Given the description of an element on the screen output the (x, y) to click on. 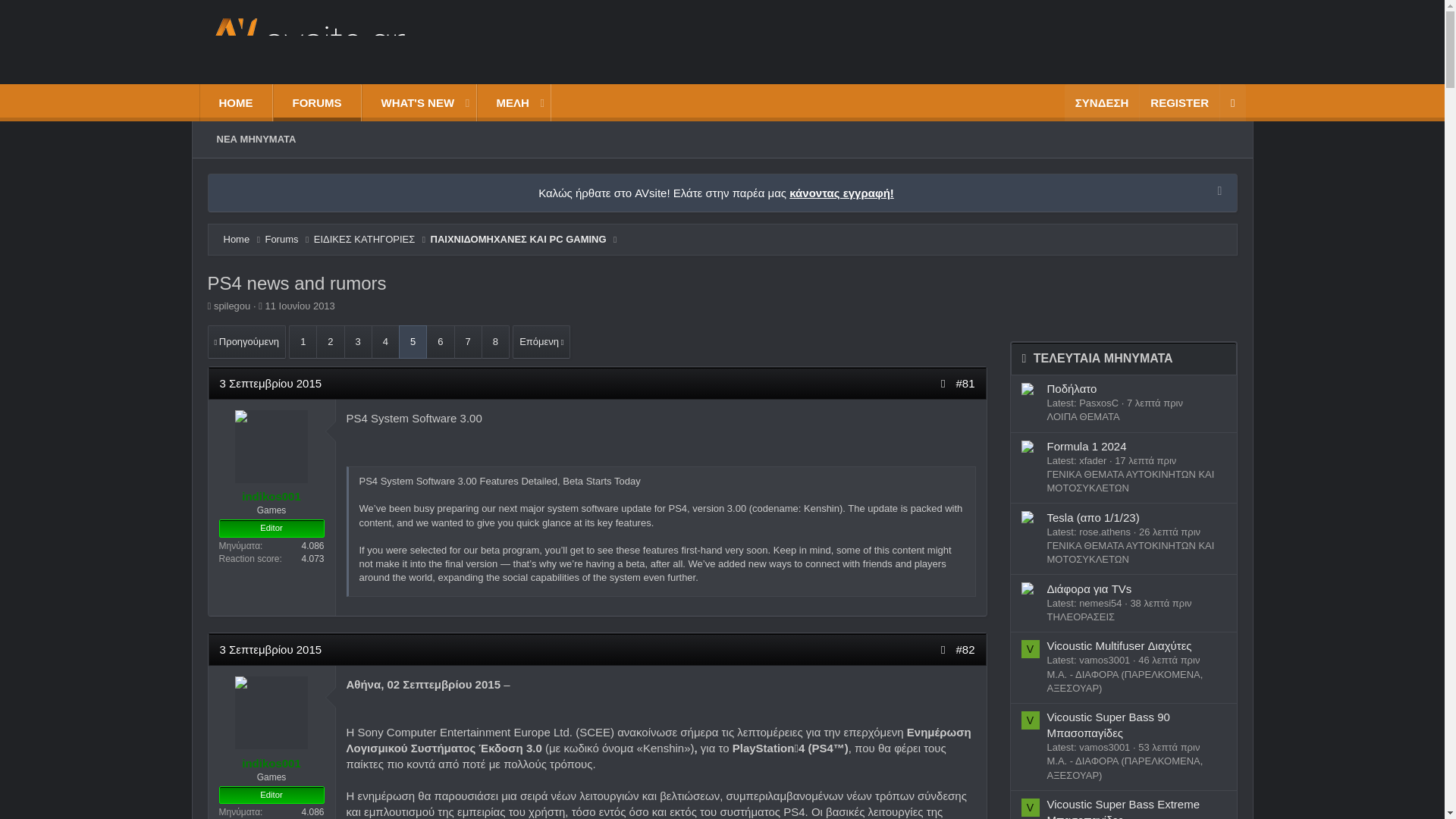
Home (235, 239)
WHAT'S NEW (411, 102)
REGISTER (1179, 102)
FORUMS (316, 102)
spilegou (232, 306)
Forums (281, 239)
HOME (236, 102)
